Given the description of an element on the screen output the (x, y) to click on. 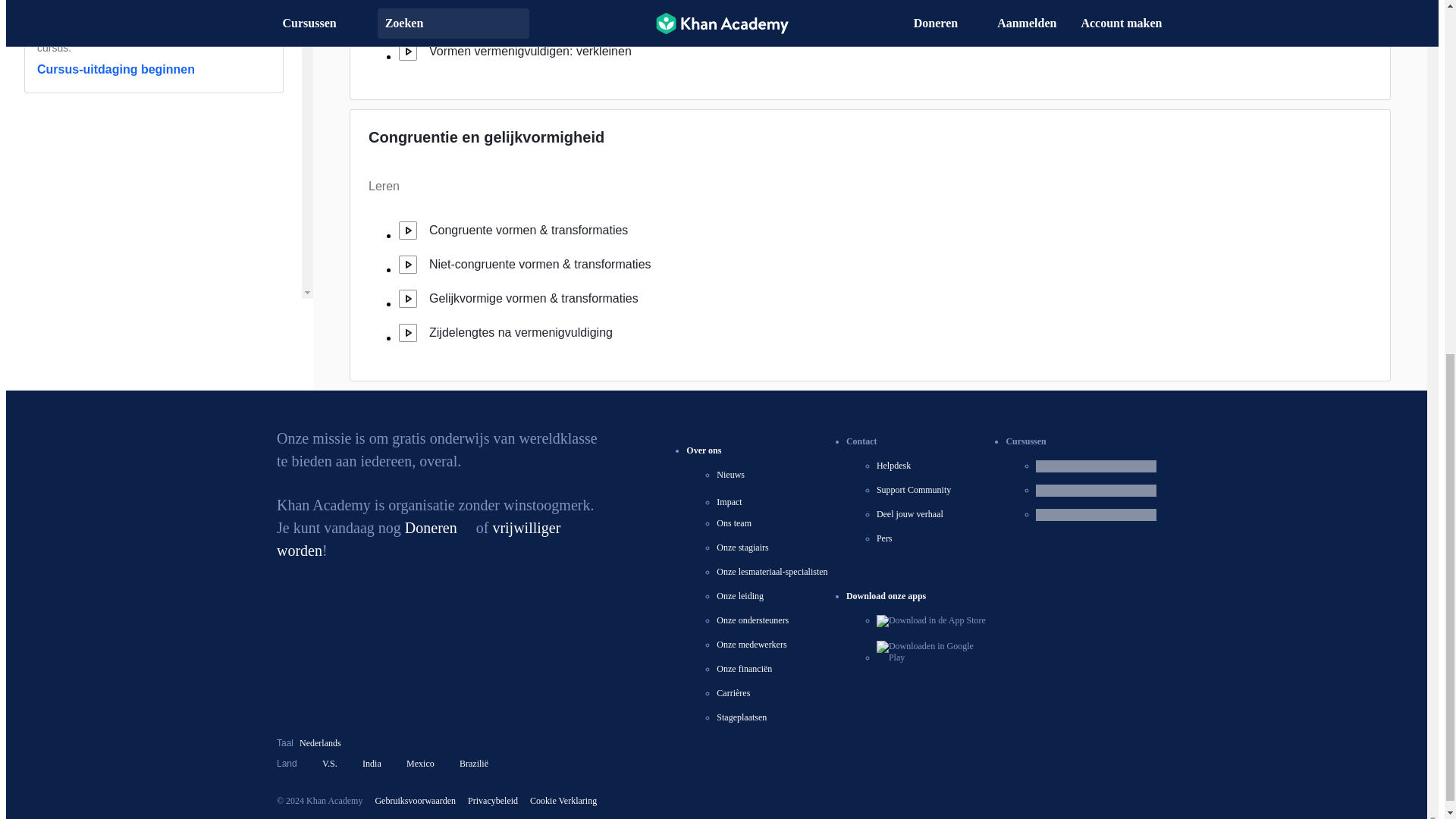
Ons team (733, 522)
Onze leiding (739, 595)
Onze stagiairs (742, 547)
Impact (736, 501)
Nieuws (730, 474)
Congruentie en gelijkvormigheid (486, 136)
Onze lesmateriaal-specialisten (771, 571)
Over ons (702, 450)
vrijwilliger worden (418, 538)
Doneren (437, 527)
Cursus-uitdaging beginnen (116, 69)
